Given the description of an element on the screen output the (x, y) to click on. 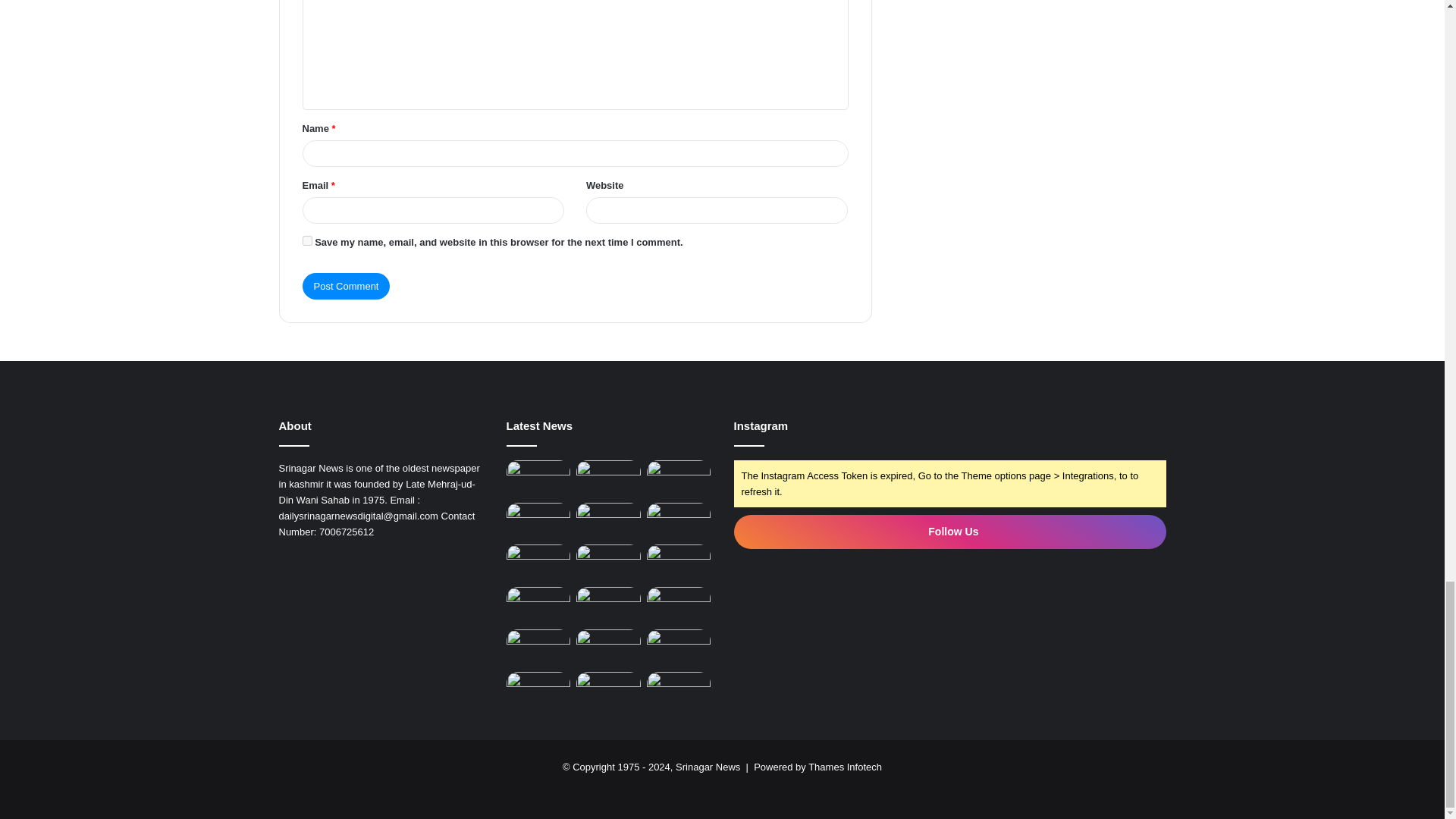
Post Comment (345, 285)
yes (306, 240)
